Given the description of an element on the screen output the (x, y) to click on. 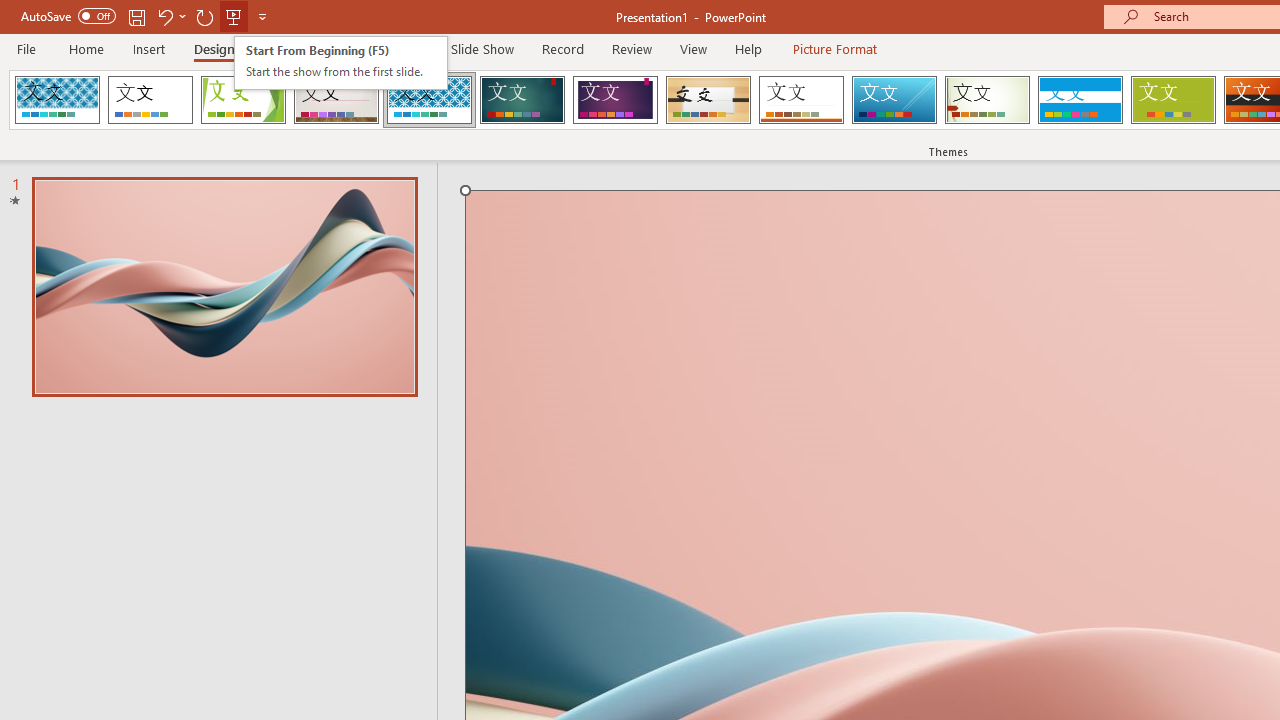
Slice (893, 100)
Facet (243, 100)
Banded (1080, 100)
Ion Boardroom (615, 100)
